Given the description of an element on the screen output the (x, y) to click on. 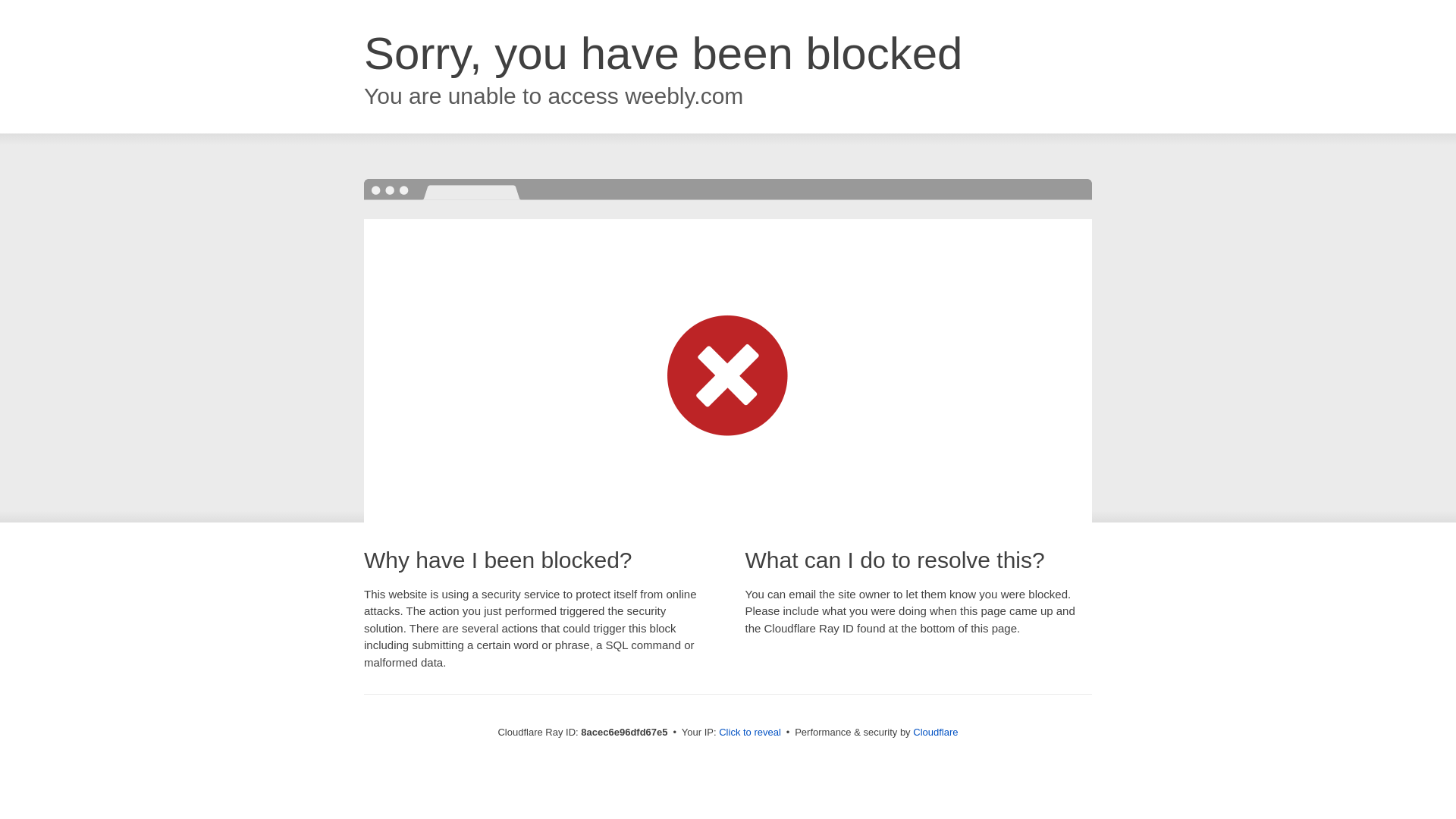
Click to reveal (749, 732)
Cloudflare (935, 731)
